Given the description of an element on the screen output the (x, y) to click on. 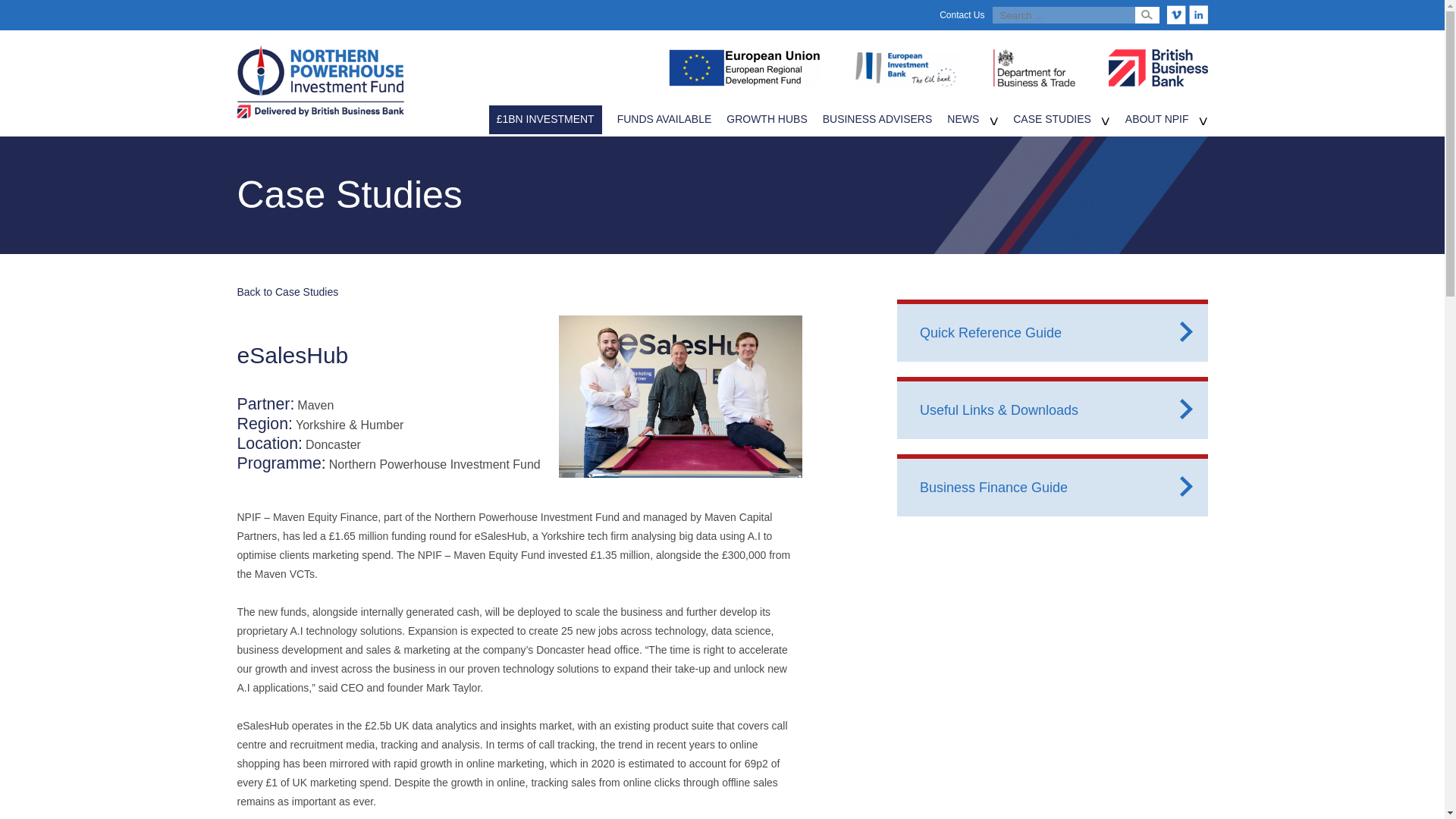
ABOUT NPIF (1157, 119)
NEWS (962, 119)
CASE STUDIES (1051, 119)
BUSINESS ADVISERS (877, 119)
FUNDS AVAILABLE (664, 119)
Contact Us (961, 14)
GROWTH HUBS (766, 119)
